Given the description of an element on the screen output the (x, y) to click on. 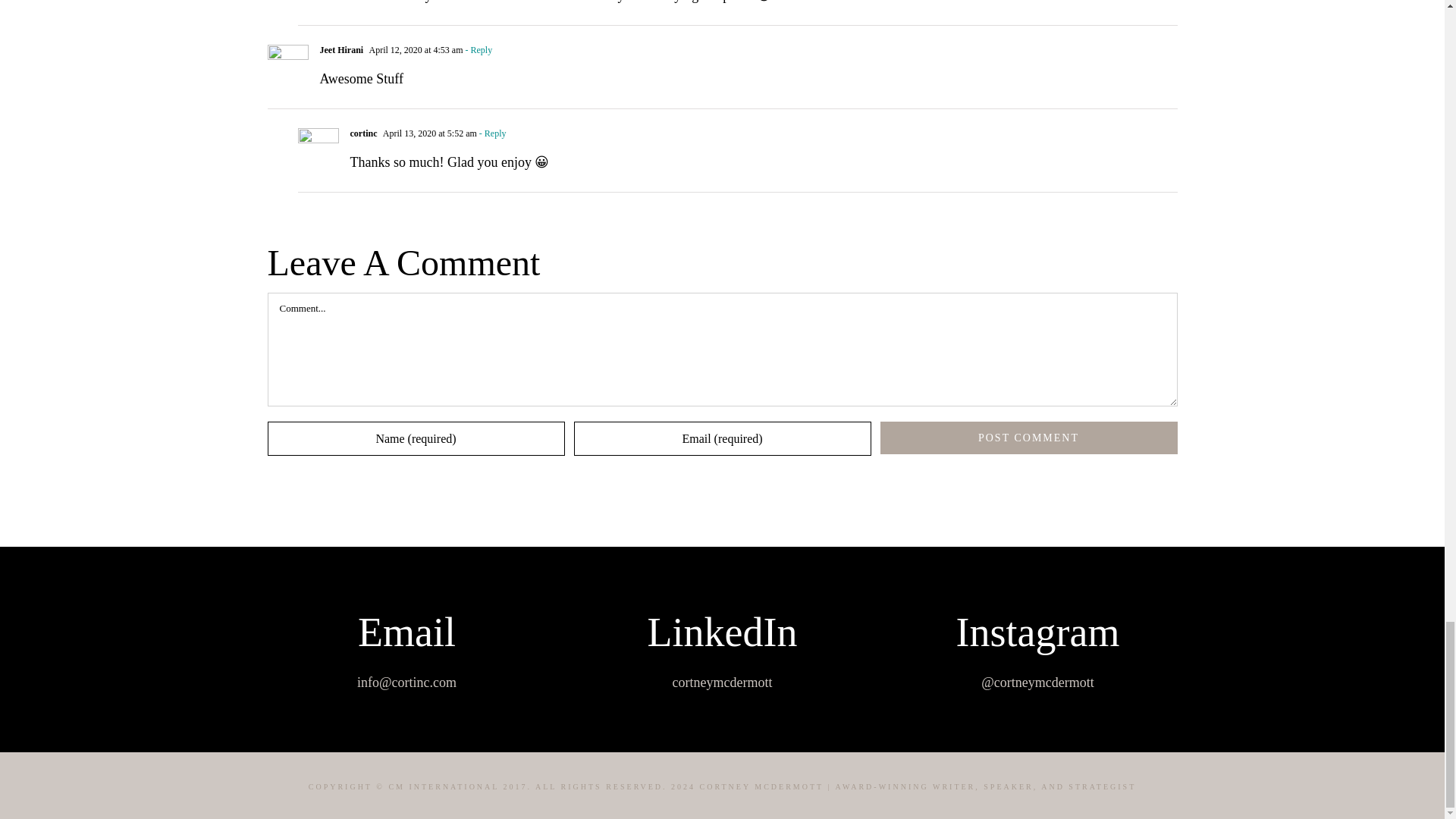
Post Comment (1027, 437)
Post Comment (1027, 437)
- Reply (491, 132)
- Reply (477, 50)
cortneymcdermott (722, 682)
